Given the description of an element on the screen output the (x, y) to click on. 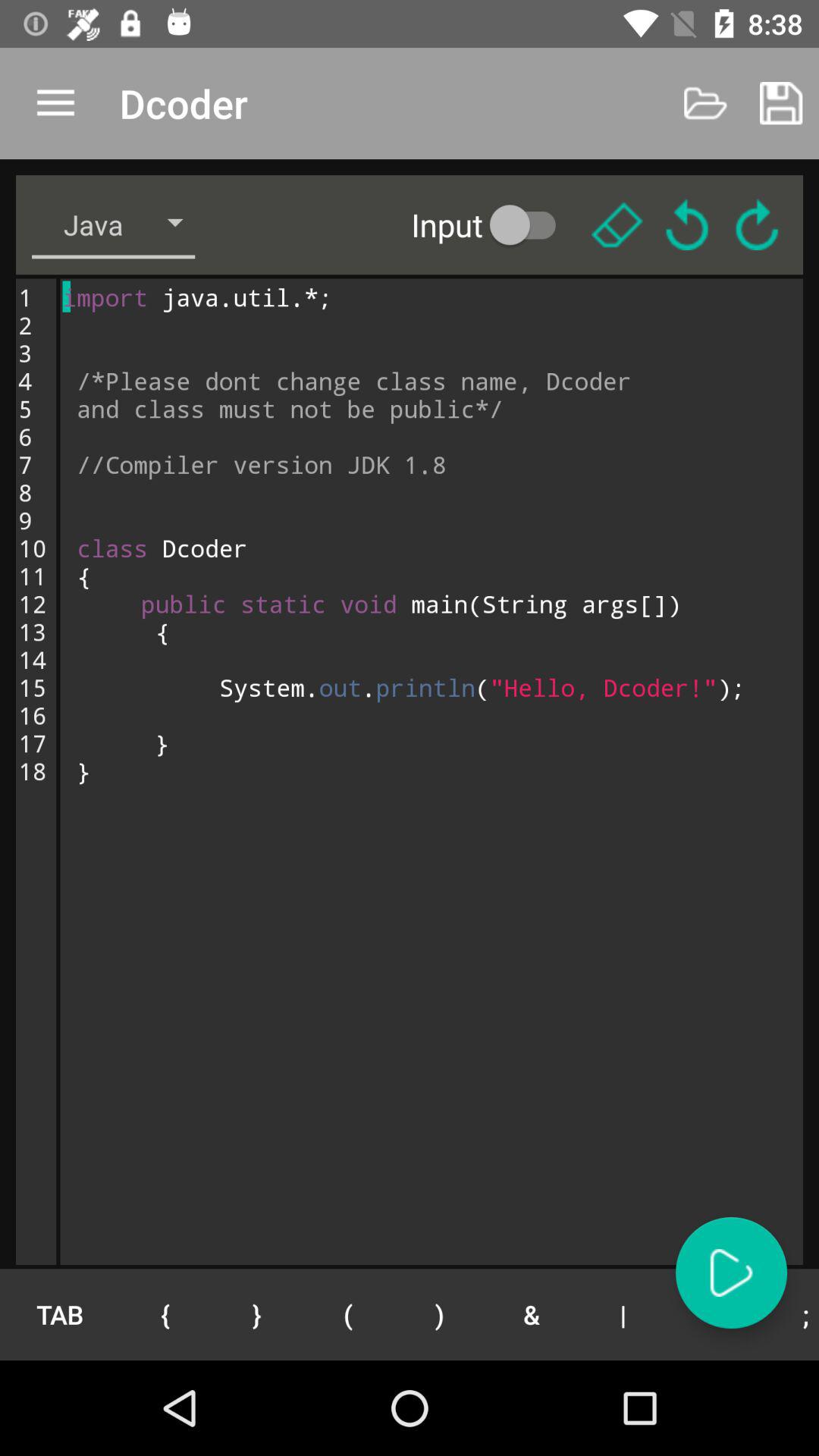
go to refresh (756, 224)
